Given the description of an element on the screen output the (x, y) to click on. 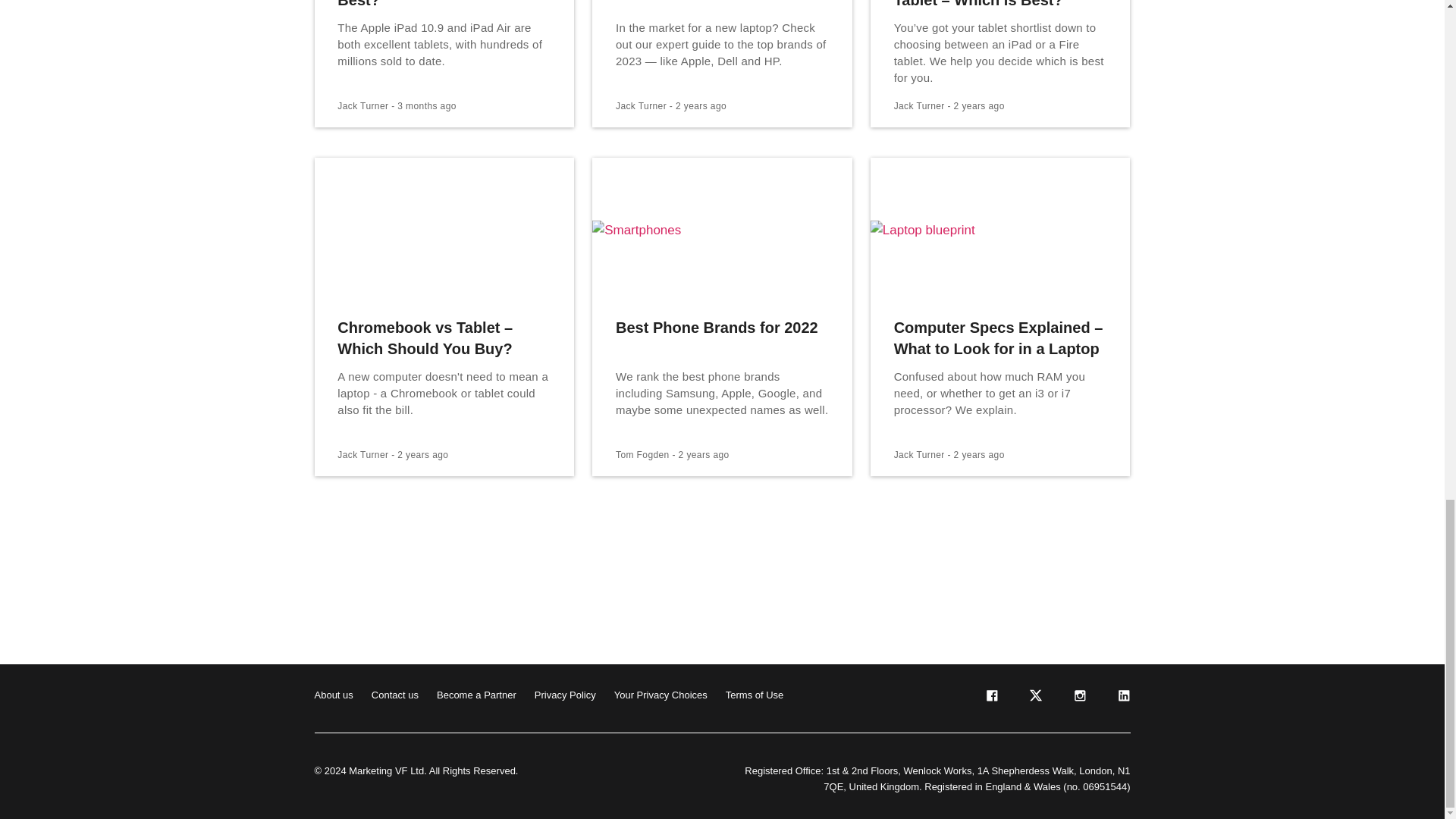
linkedin (1122, 698)
twitter-x (1034, 698)
facebook (990, 698)
instagram (1078, 698)
